Given the description of an element on the screen output the (x, y) to click on. 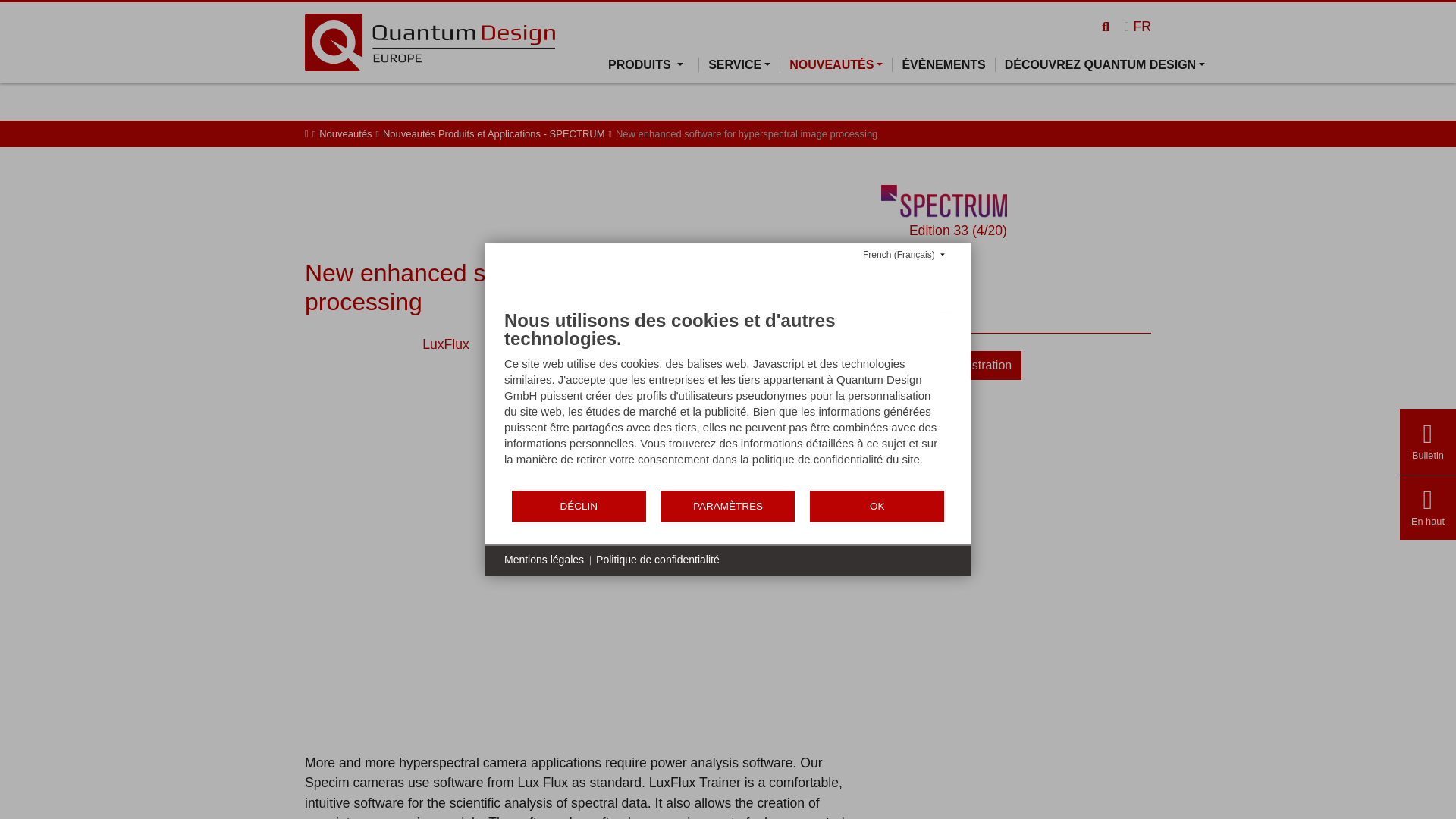
Quantum Design Inc. (429, 41)
Produits (653, 64)
Bulletin (1427, 454)
PRODUITS (653, 64)
En haut (1427, 521)
SERVICE (738, 64)
Langue (1137, 26)
Service (738, 64)
